Given the description of an element on the screen output the (x, y) to click on. 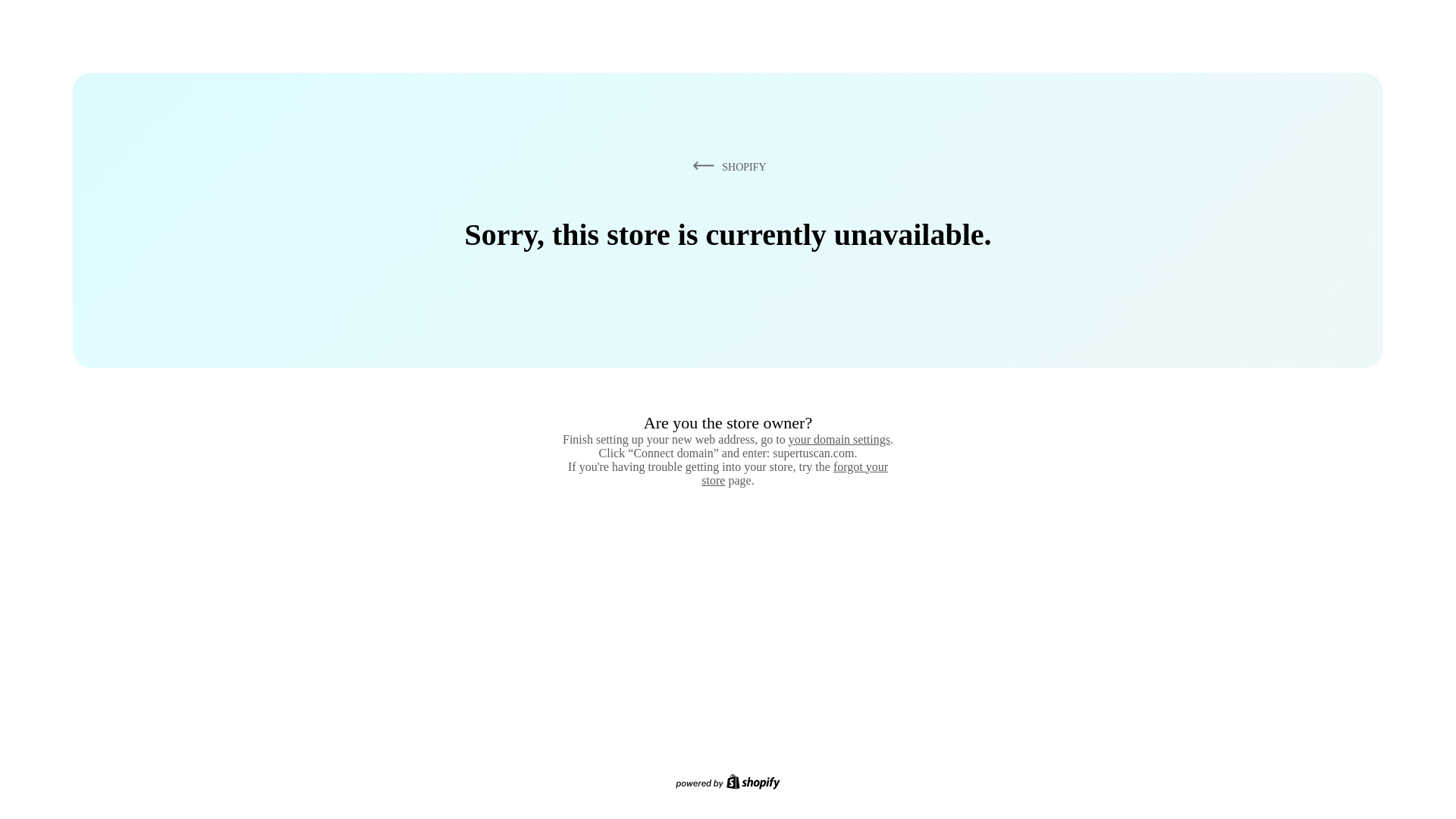
your domain settings (839, 439)
SHOPIFY (726, 166)
forgot your store (794, 473)
